Given the description of an element on the screen output the (x, y) to click on. 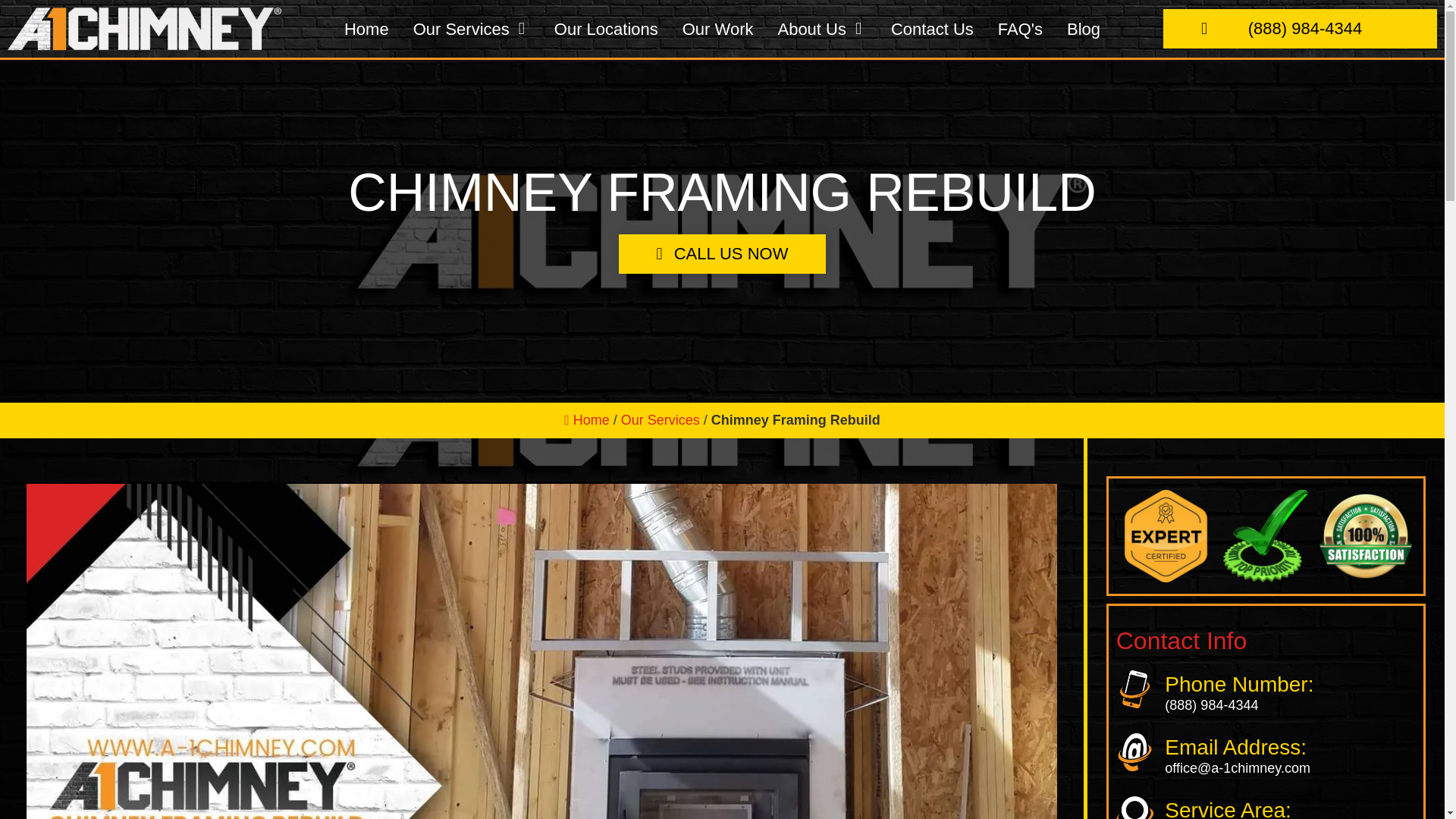
Our Services (461, 7)
Our Locations (606, 10)
FAQ's (1019, 19)
Contact Us (932, 18)
Home (365, 5)
About Us (811, 14)
Blog (1083, 21)
Our Work (718, 12)
